Given the description of an element on the screen output the (x, y) to click on. 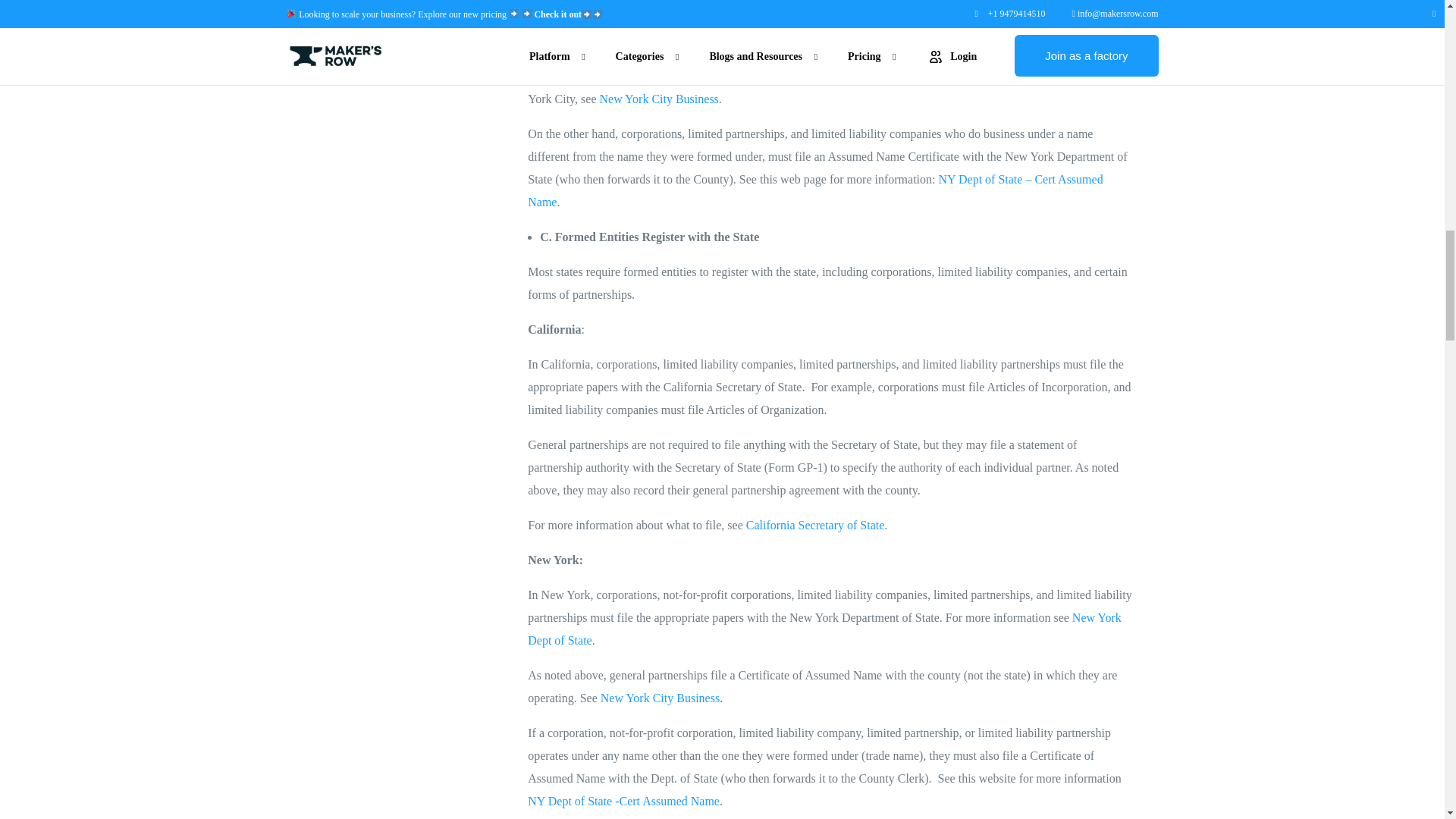
New York Dept of State (824, 628)
New York City Business (659, 697)
New York City Business (657, 98)
California Secretary of State (815, 524)
NY Dept of State -Cert Assumed Name (623, 800)
